Given the description of an element on the screen output the (x, y) to click on. 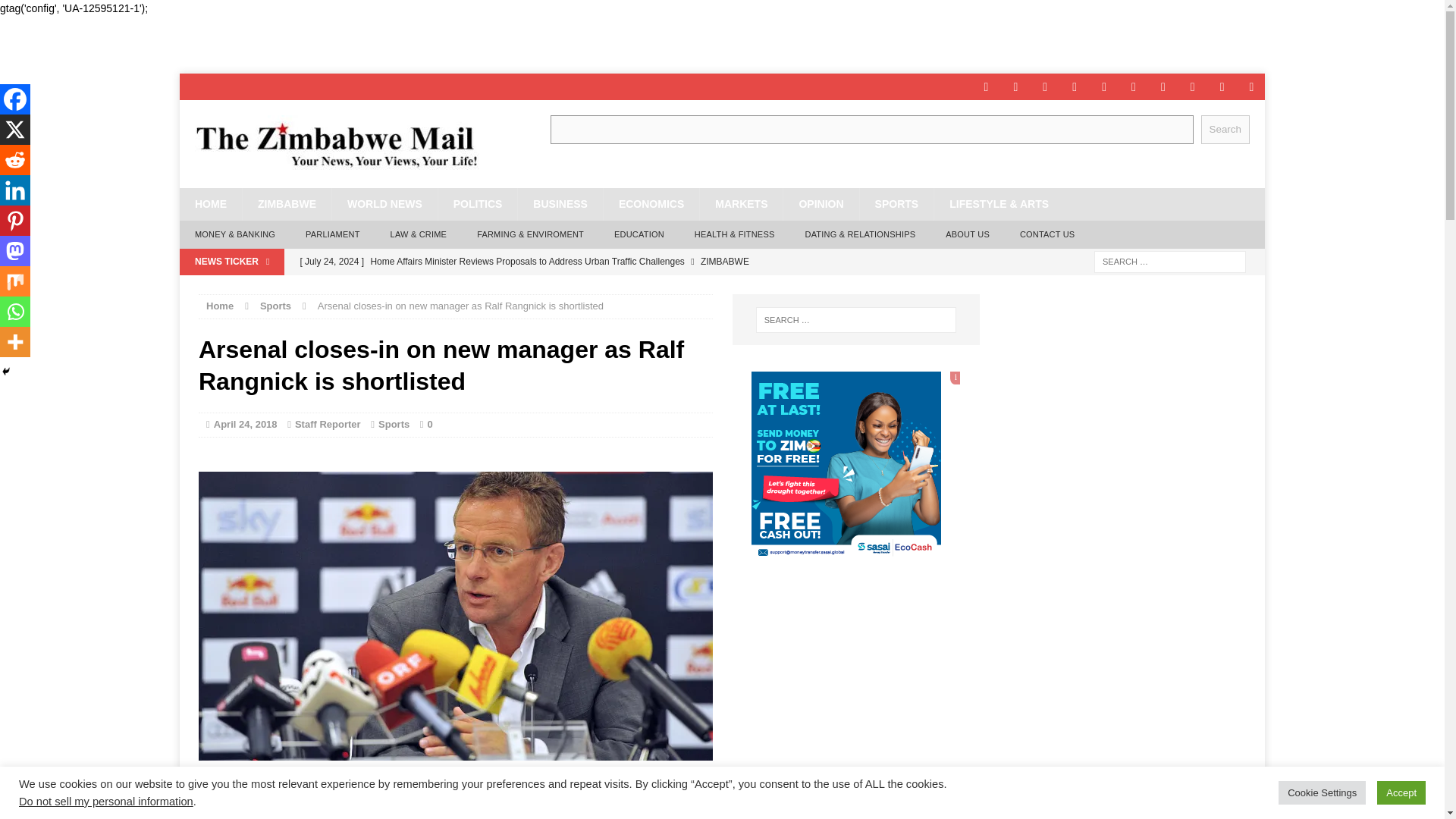
SPORTS (896, 204)
MARKETS (740, 204)
OPINION (821, 204)
ZIMBABWE (286, 204)
BUSINESS (559, 204)
ECONOMICS (650, 204)
Search (1225, 129)
POLITICS (478, 204)
WORLD NEWS (384, 204)
PARLIAMENT (331, 234)
The Zimbabwe Mail (350, 143)
HOME (210, 204)
EDUCATION (638, 234)
